Given the description of an element on the screen output the (x, y) to click on. 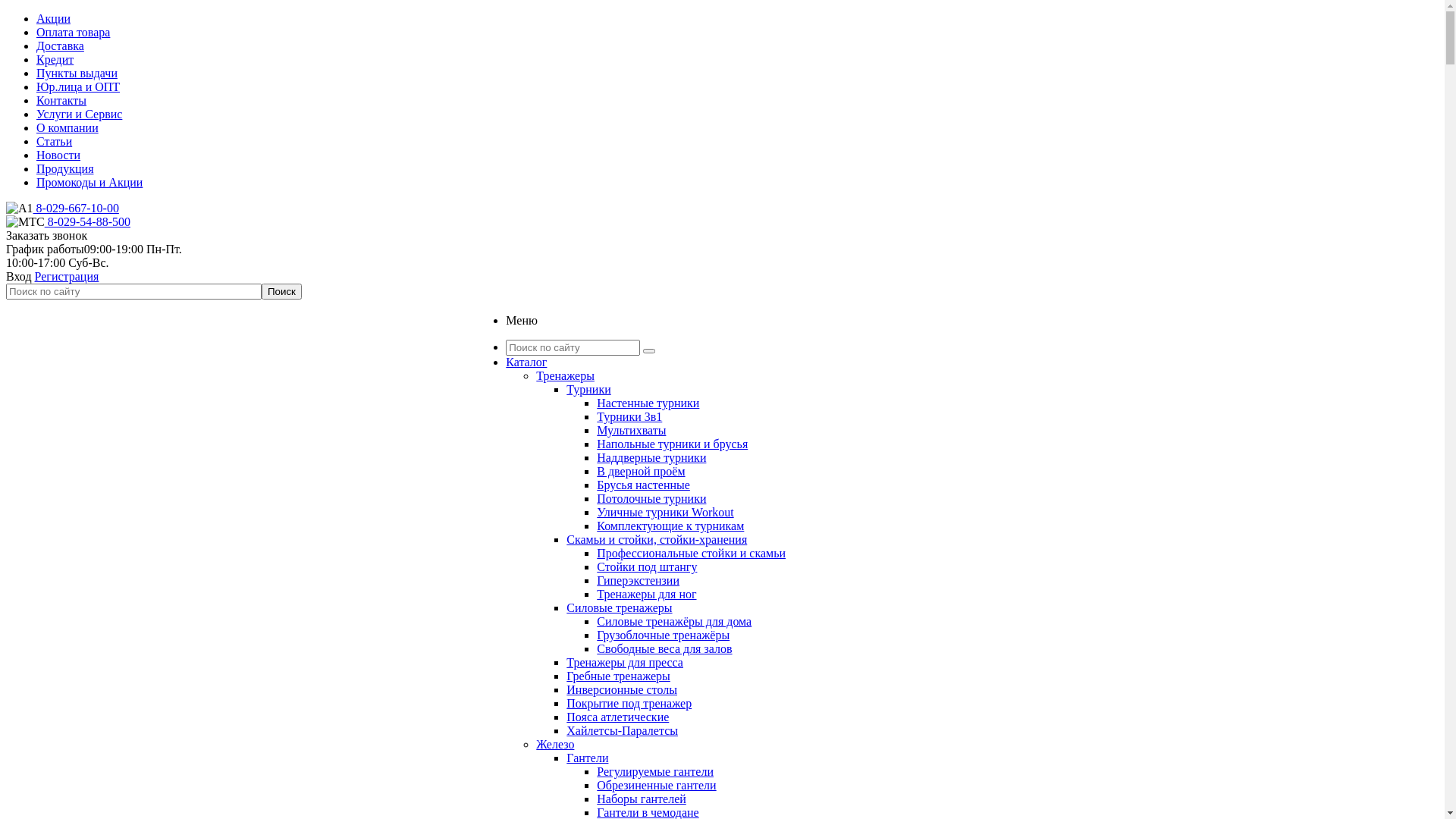
8-029-667-10-00 Element type: text (76, 207)
8-029-54-88-500 Element type: text (87, 221)
